Given the description of an element on the screen output the (x, y) to click on. 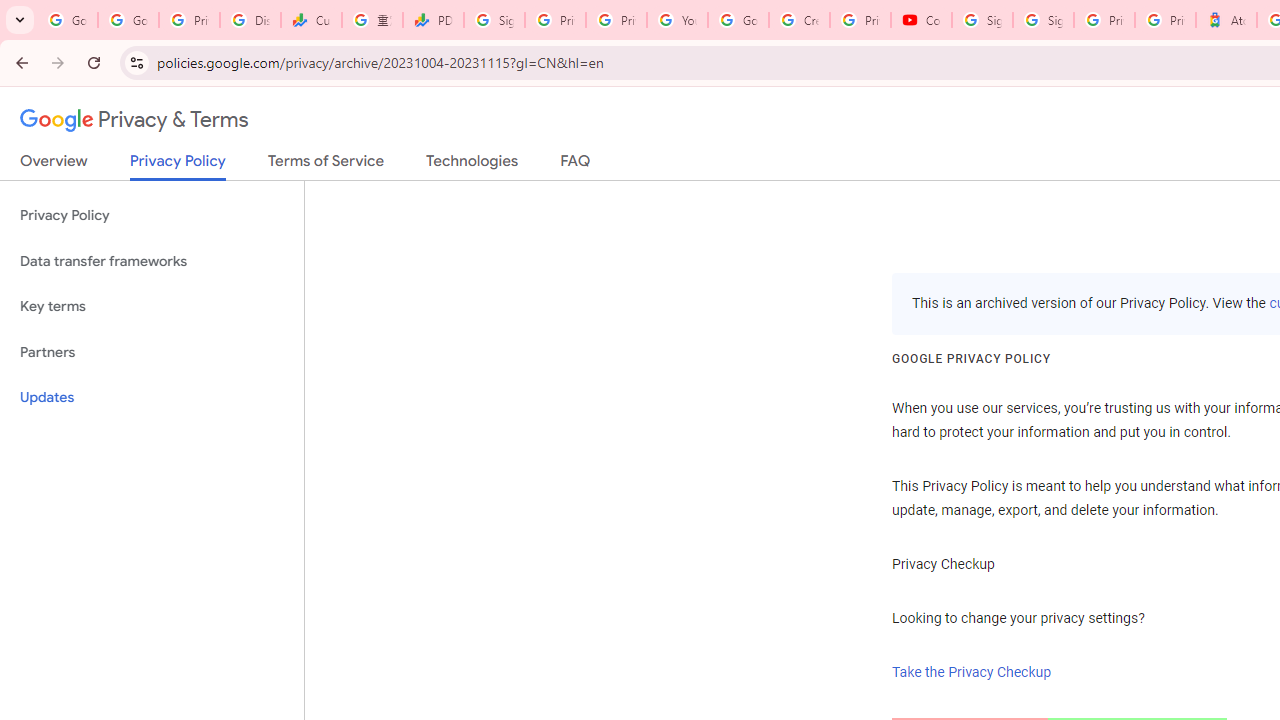
Google Workspace Admin Community (67, 20)
Atour Hotel - Google hotels (1225, 20)
